Given the description of an element on the screen output the (x, y) to click on. 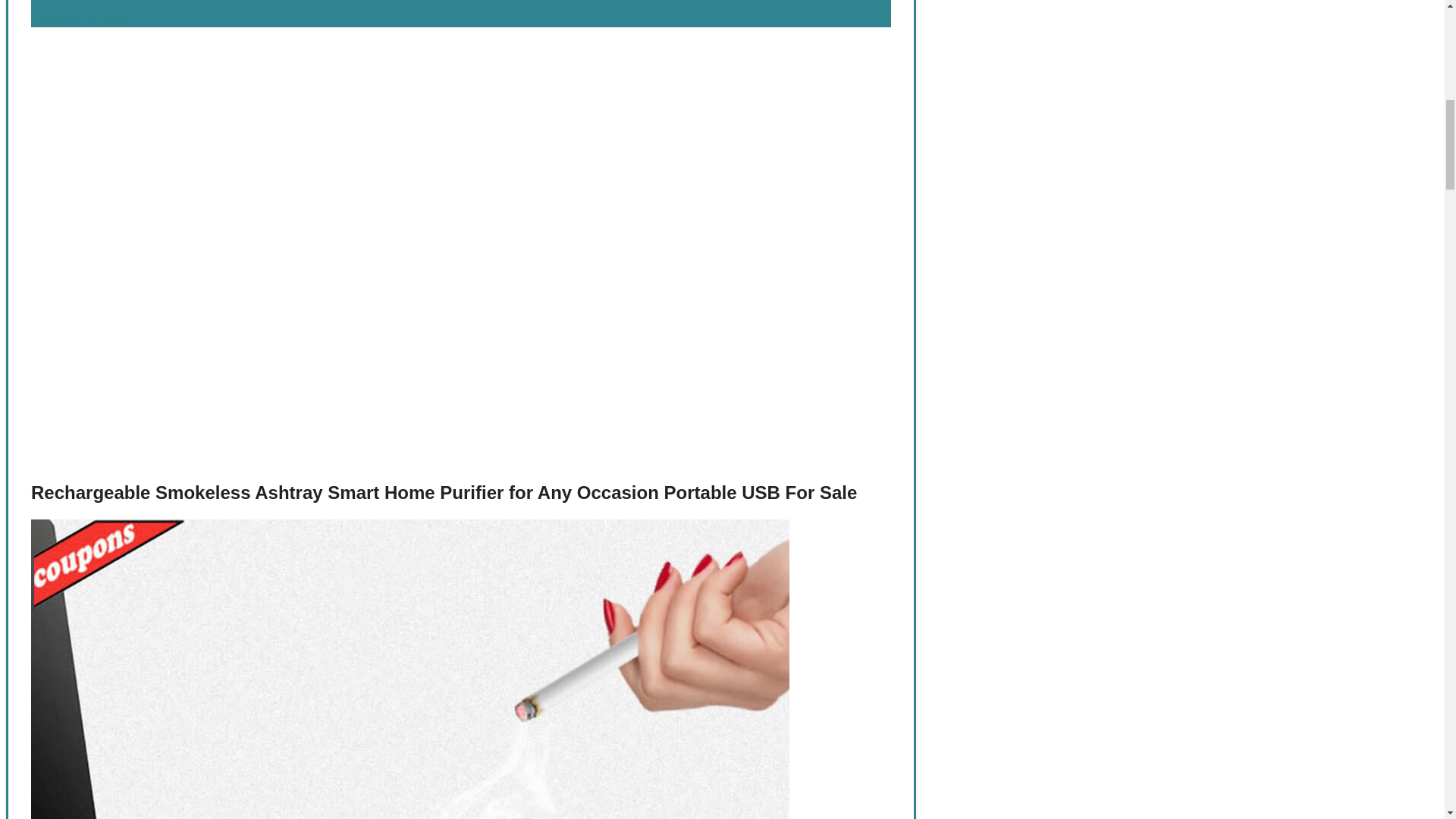
Return to Content (78, 17)
